Given the description of an element on the screen output the (x, y) to click on. 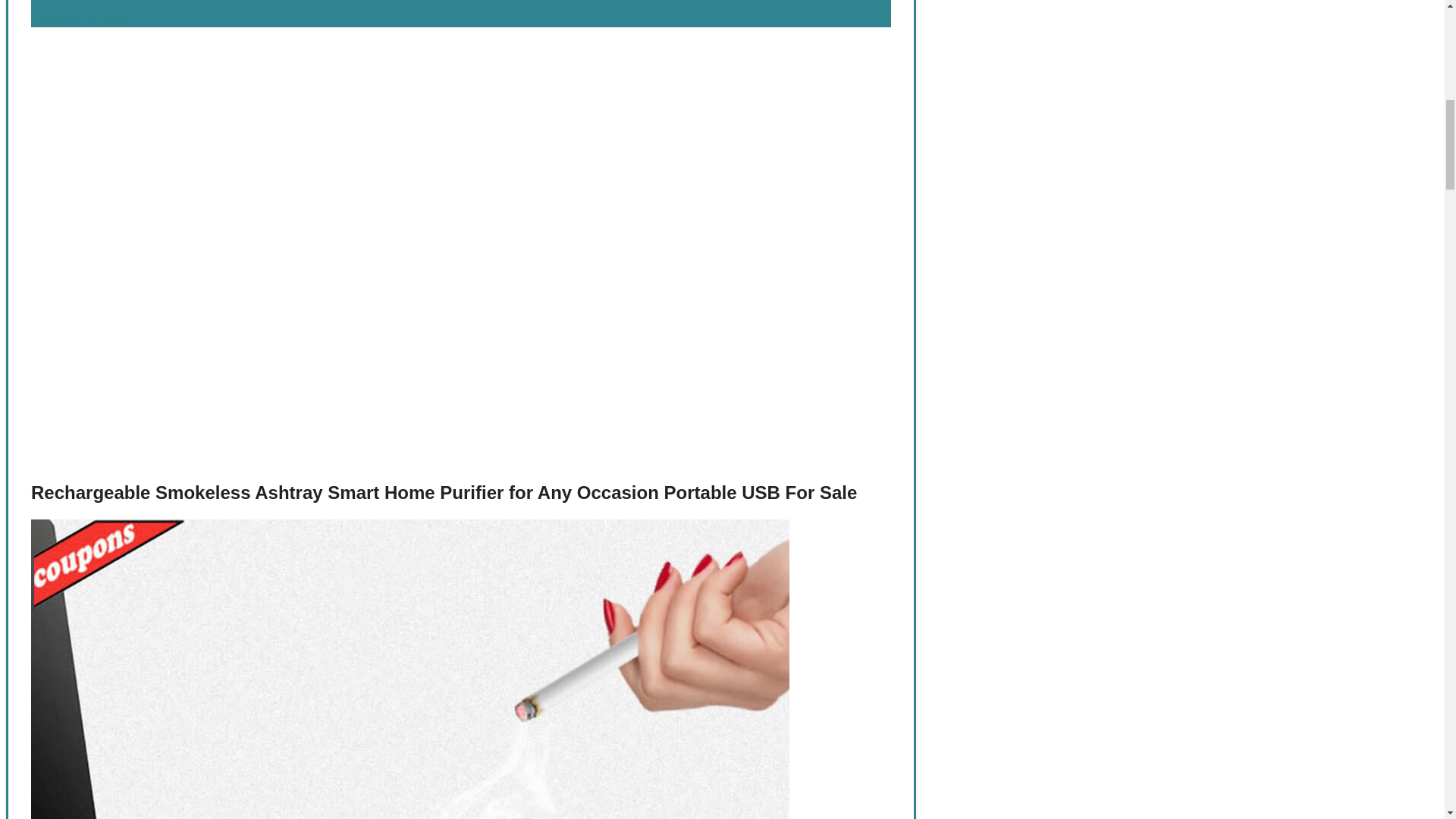
Return to Content (78, 17)
